Given the description of an element on the screen output the (x, y) to click on. 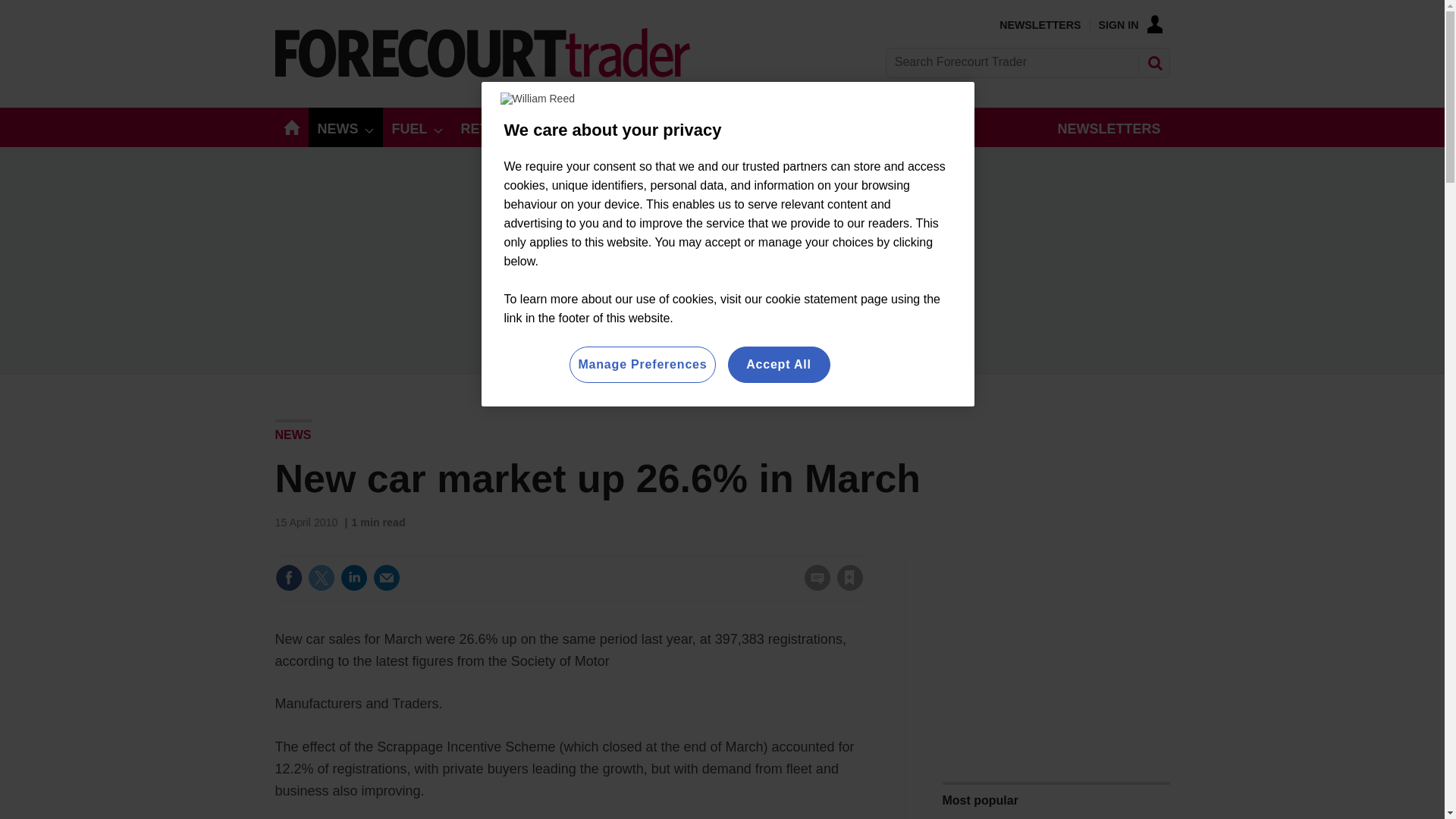
NEWSLETTERS (1039, 24)
Site name (482, 72)
William Reed (537, 98)
SIGN IN (1130, 24)
3rd party ad content (1055, 650)
Share this on Facebook (288, 577)
Share this on Twitter (320, 577)
Email this article (386, 577)
SEARCH (1153, 62)
